Given the description of an element on the screen output the (x, y) to click on. 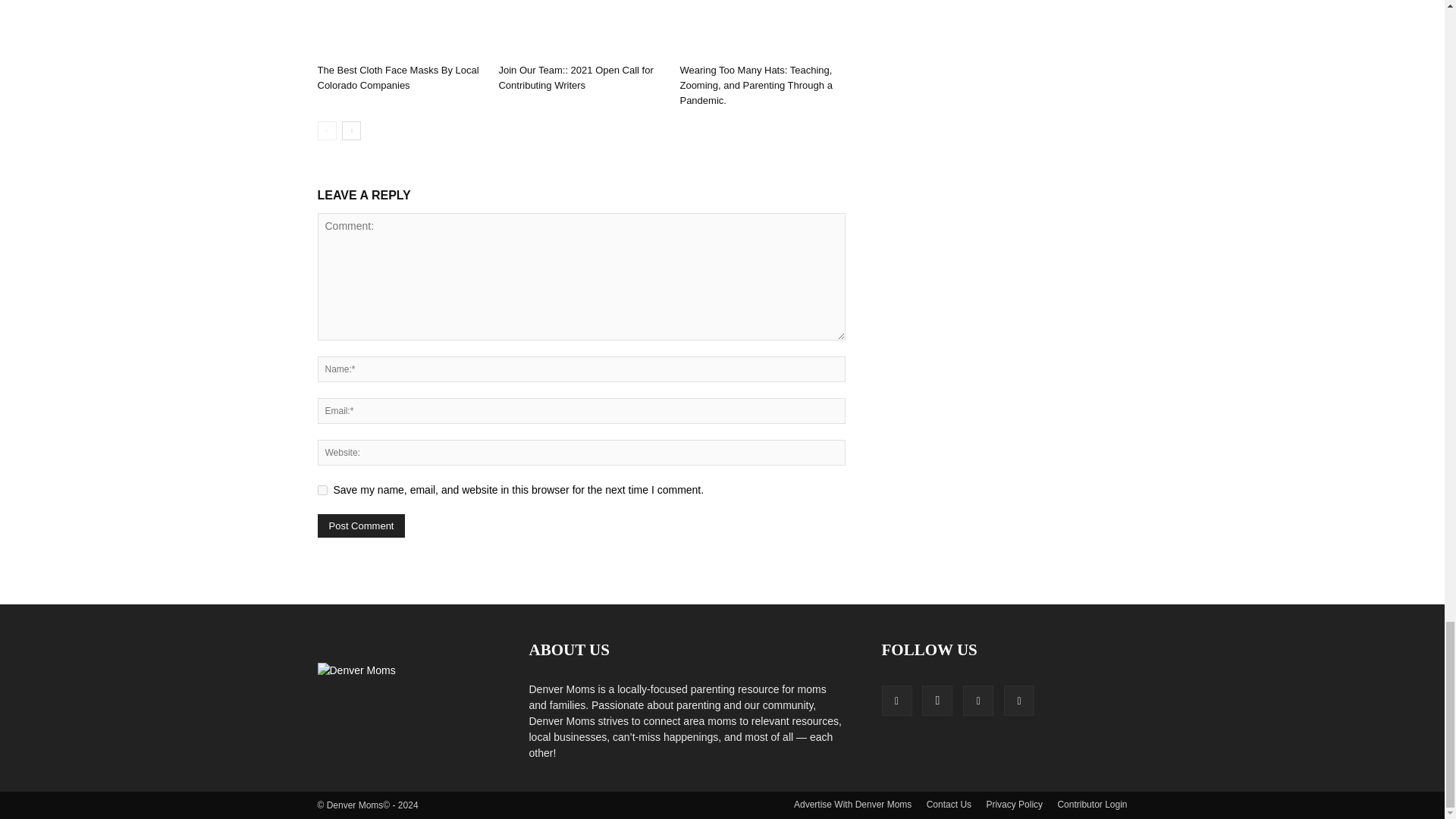
yes (321, 490)
Post Comment (360, 525)
